Given the description of an element on the screen output the (x, y) to click on. 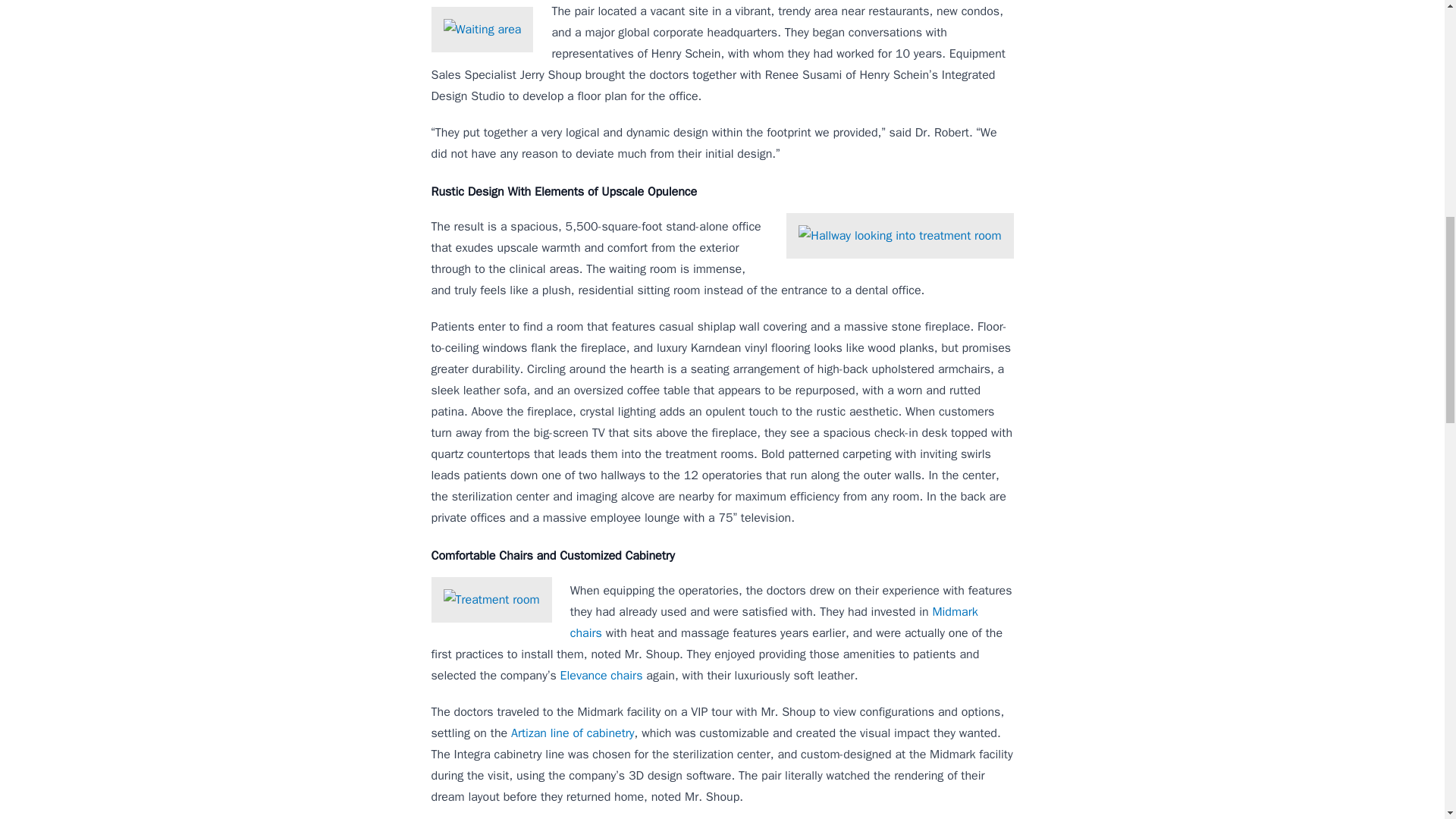
Midmark chairs (774, 622)
Artizan line of cabinetry (572, 733)
Elevance chairs (601, 675)
